Given the description of an element on the screen output the (x, y) to click on. 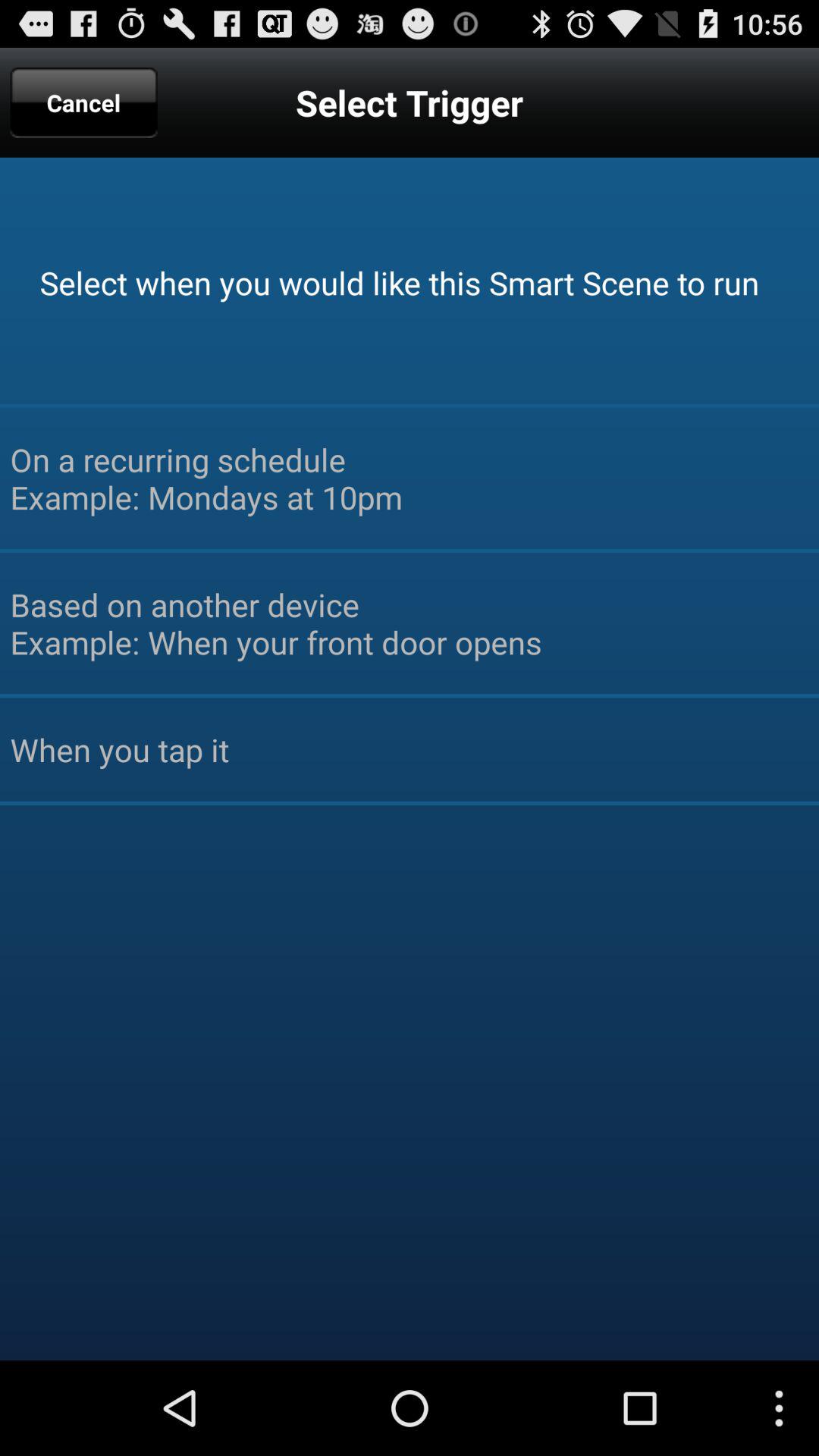
tap button at the top left corner (83, 102)
